Given the description of an element on the screen output the (x, y) to click on. 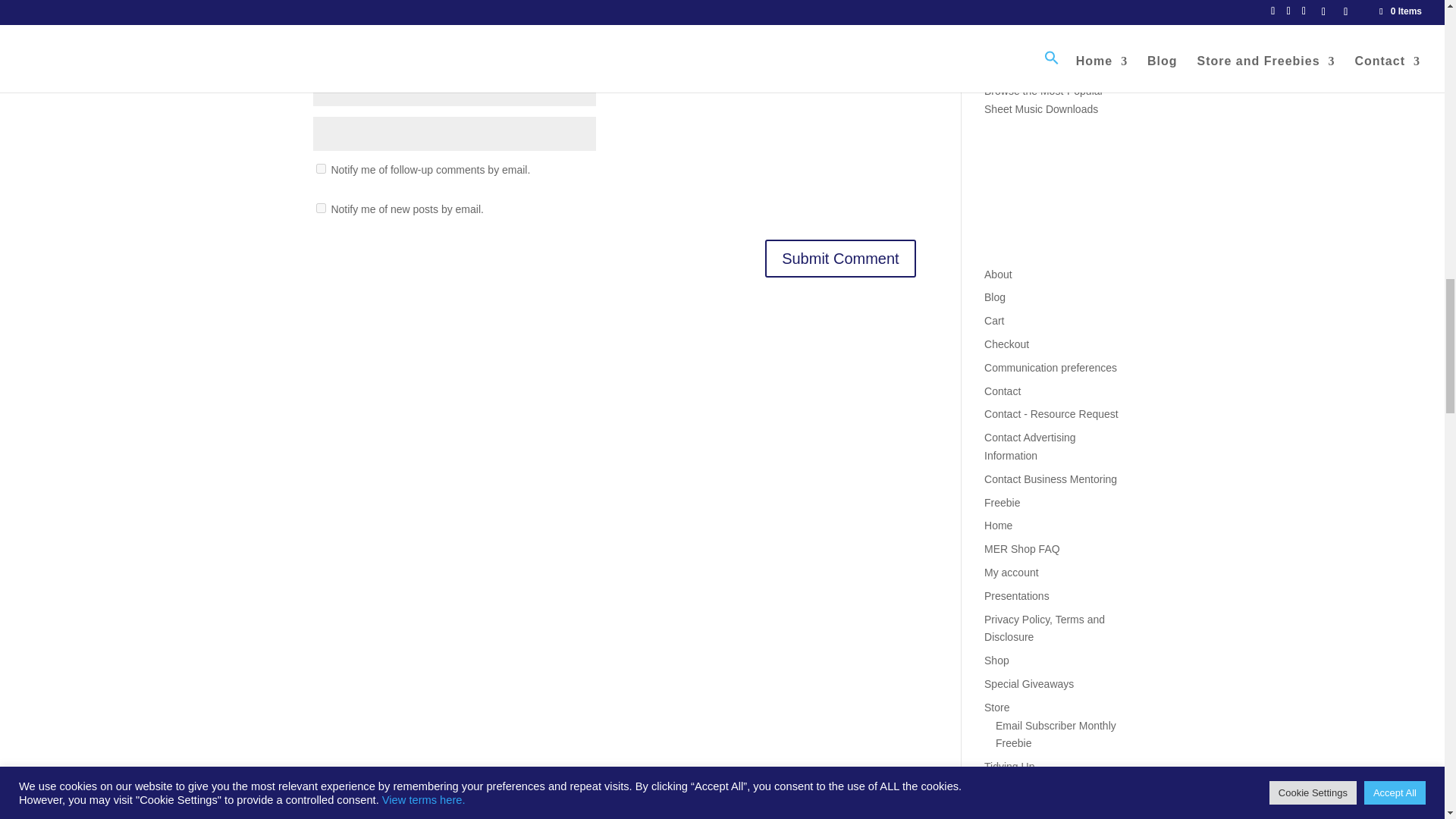
subscribe (319, 168)
subscribe (319, 207)
